Given the description of an element on the screen output the (x, y) to click on. 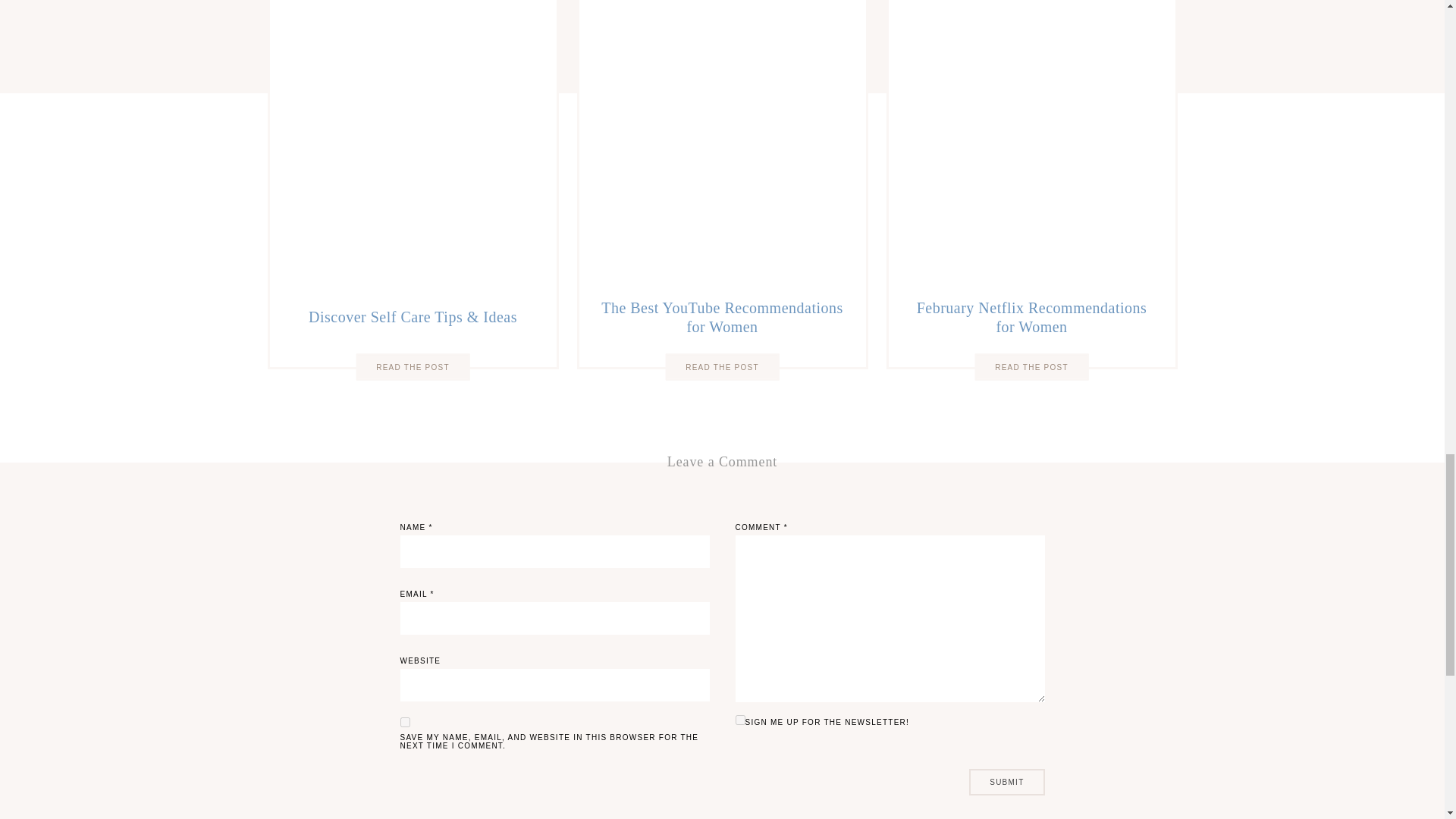
1 (740, 719)
yes (405, 722)
Submit (1006, 782)
